Given the description of an element on the screen output the (x, y) to click on. 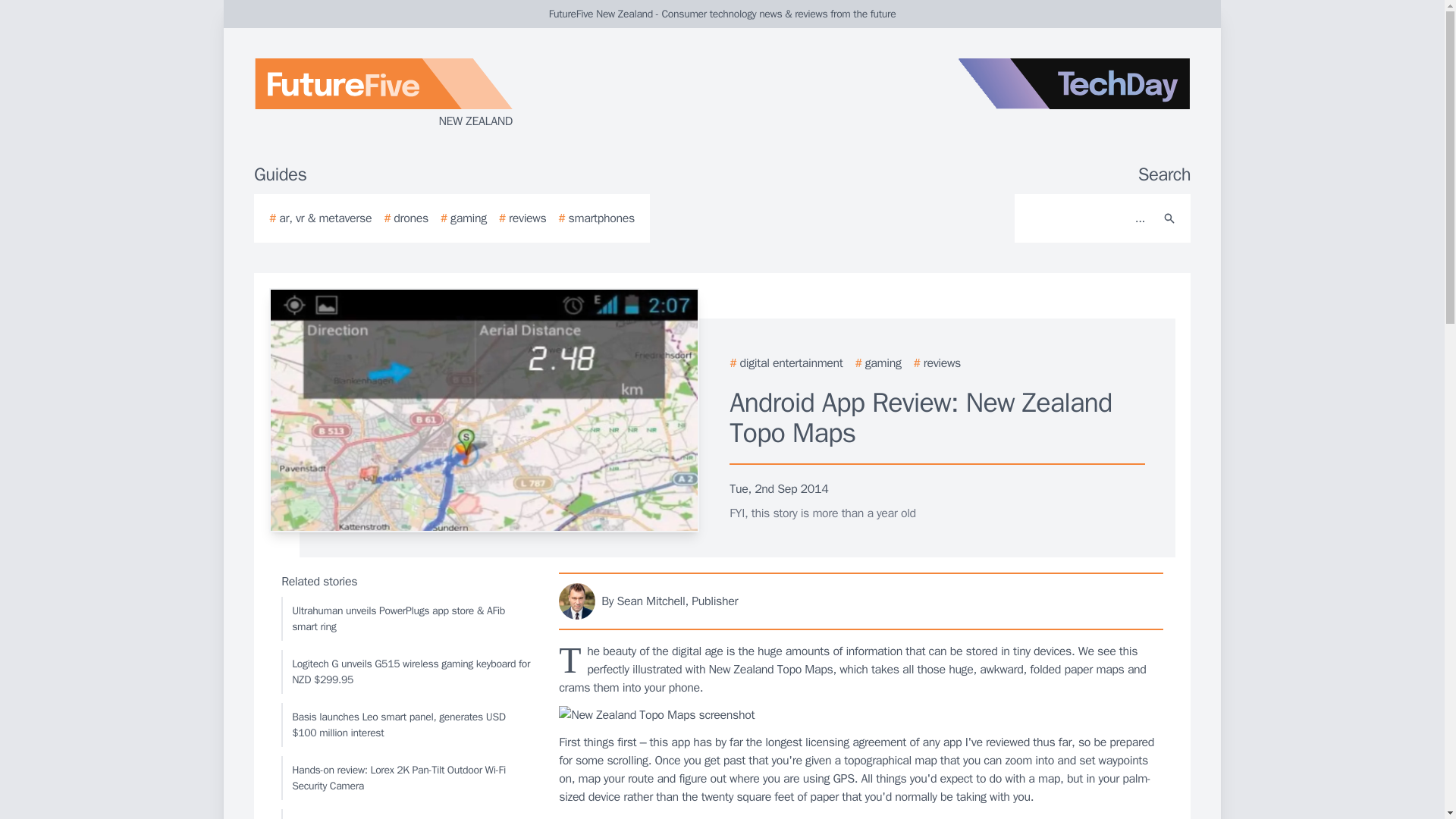
By Sean Mitchell, Publisher (861, 601)
NEW ZEALAND (435, 94)
